Given the description of an element on the screen output the (x, y) to click on. 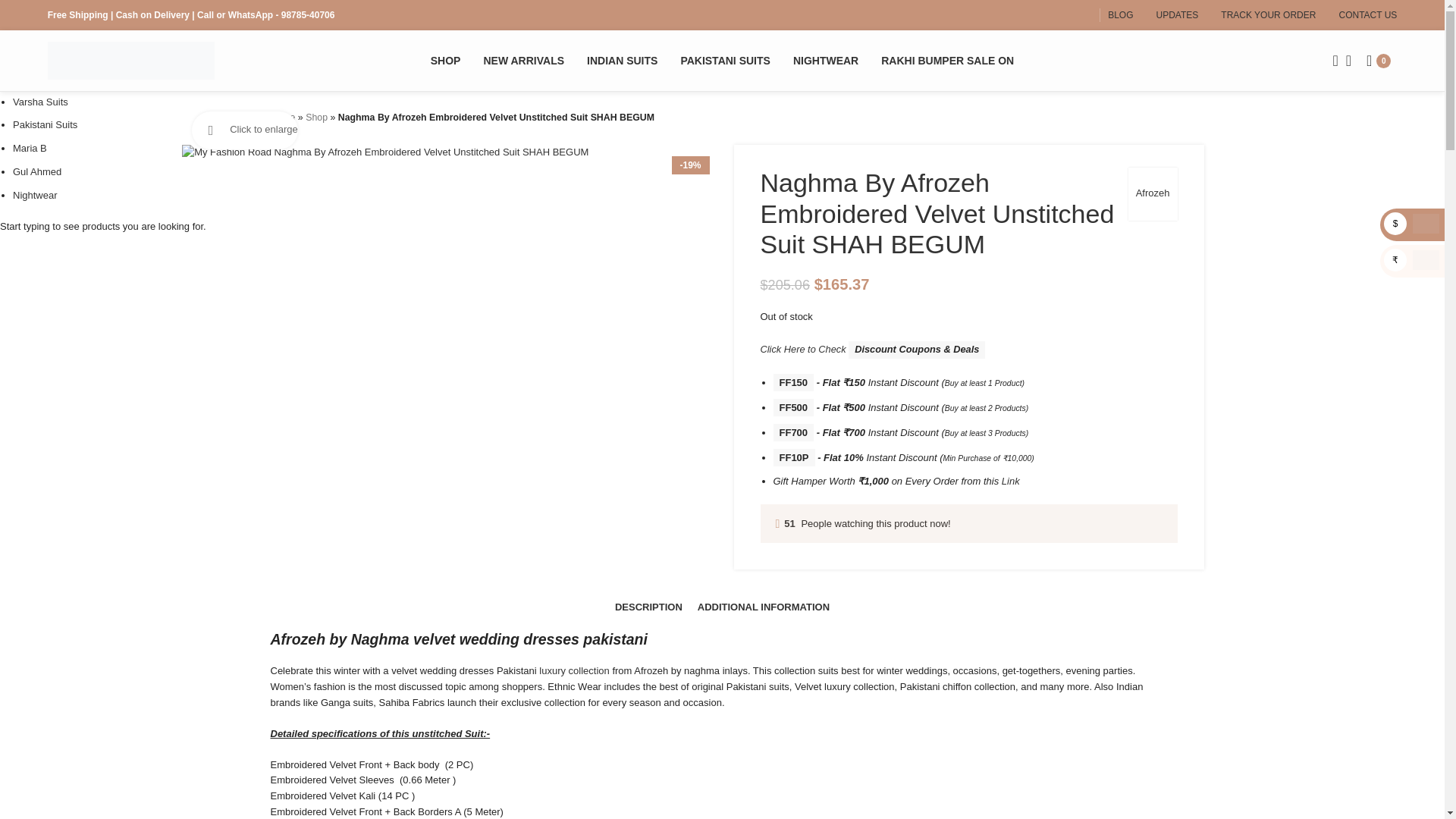
SHOP (445, 60)
INDIAN SUITS (622, 60)
My account (1348, 60)
BLOG (1120, 15)
PAKISTANI SUITS (724, 60)
CONTACT US (1367, 15)
NEW ARRIVALS (523, 60)
TRACK YOUR ORDER (1268, 15)
Shopping cart (1381, 60)
Search (1330, 60)
UPDATES (1177, 15)
